Given the description of an element on the screen output the (x, y) to click on. 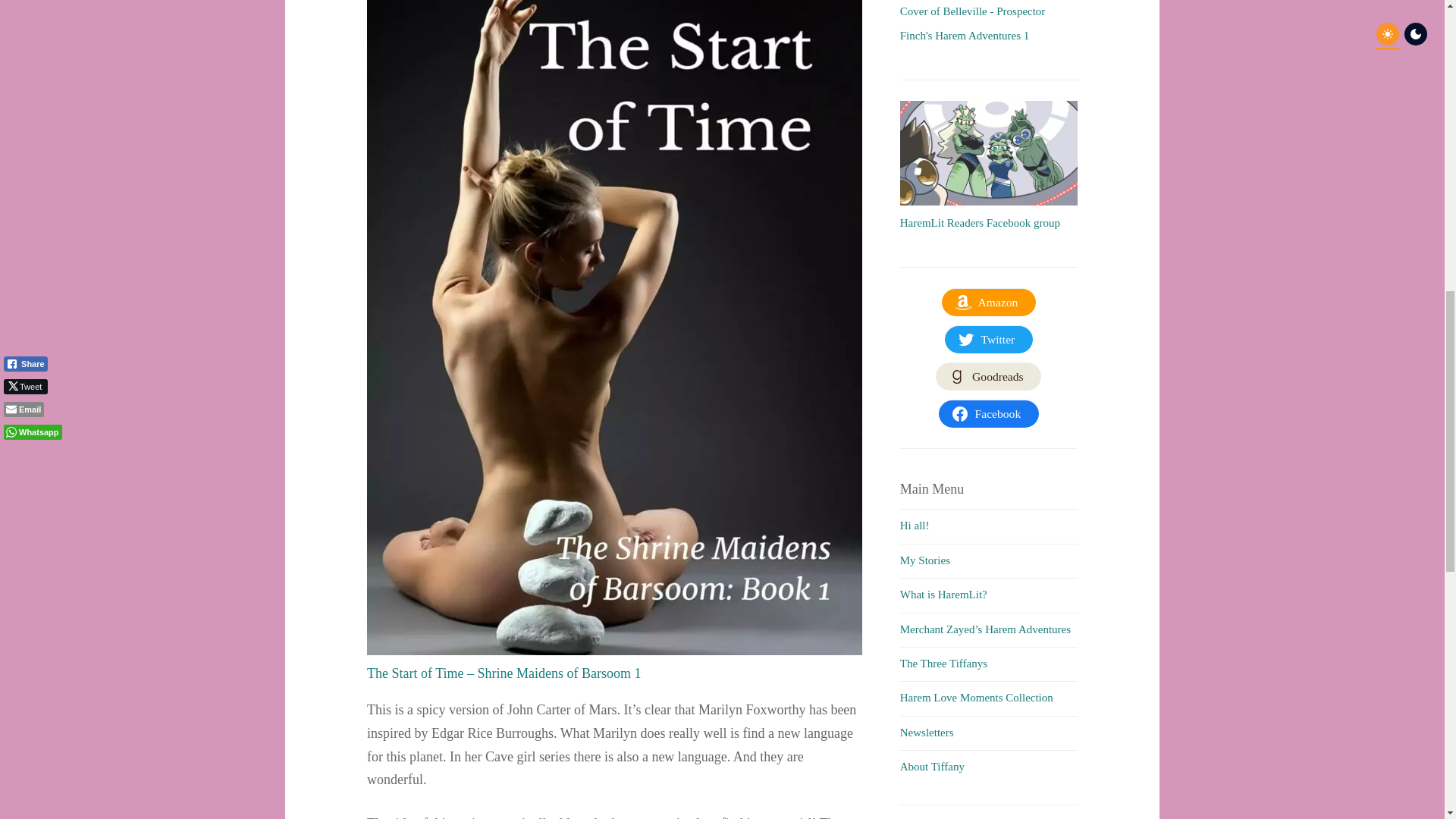
Goodreads (988, 376)
What is HaremLit? (943, 594)
Hi all! (914, 525)
My Stories (924, 560)
Harem Love Moments Collection (975, 697)
Cover of Belleville - Prospector Finch's Harem Adventures 1 (972, 22)
Twitter (988, 338)
HaremLit Readers Facebook group (979, 223)
The Three Tiffanys (943, 663)
Facebook (989, 413)
Amazon (988, 302)
